Given the description of an element on the screen output the (x, y) to click on. 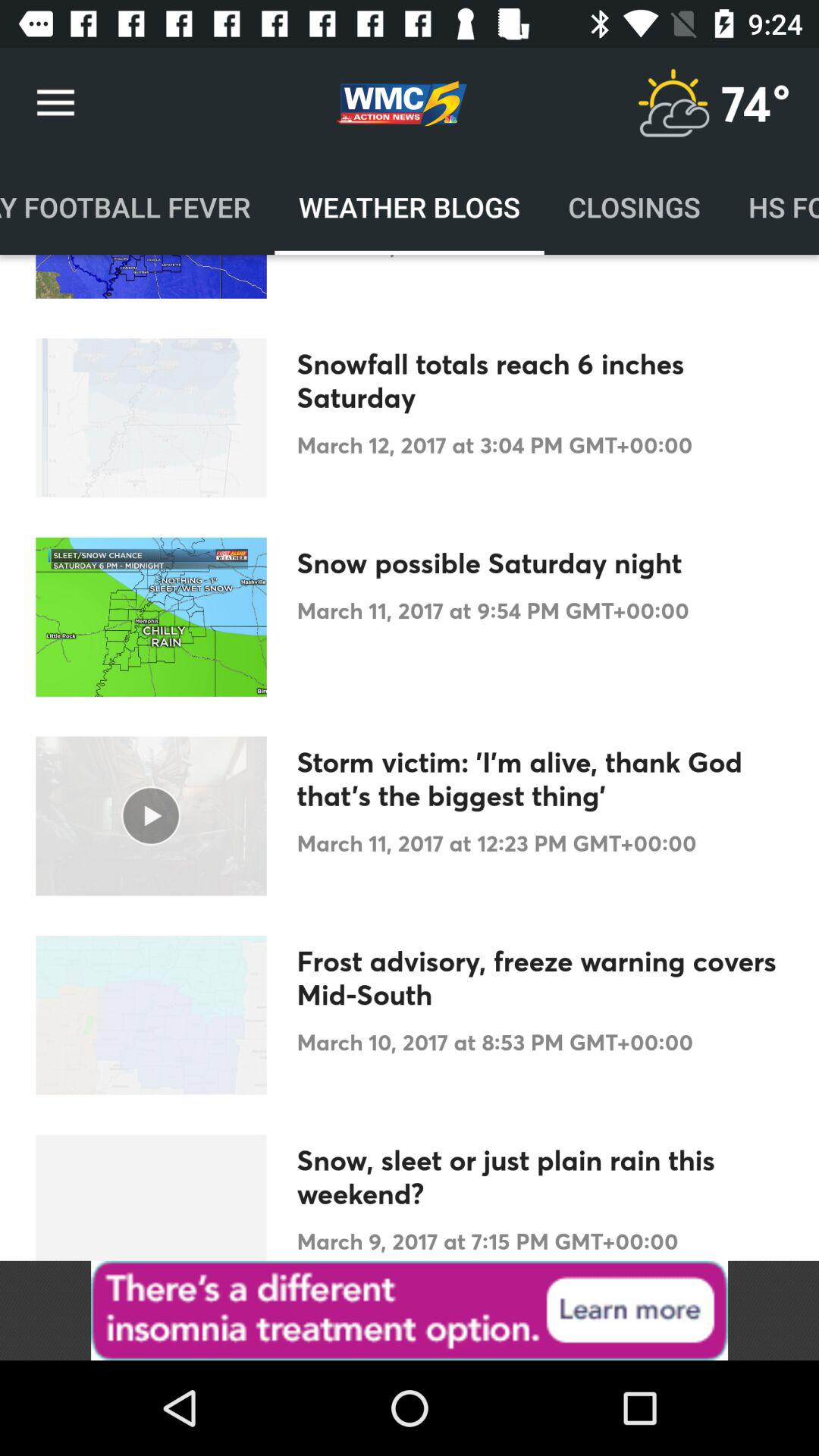
banner advertisement (409, 1310)
